Given the description of an element on the screen output the (x, y) to click on. 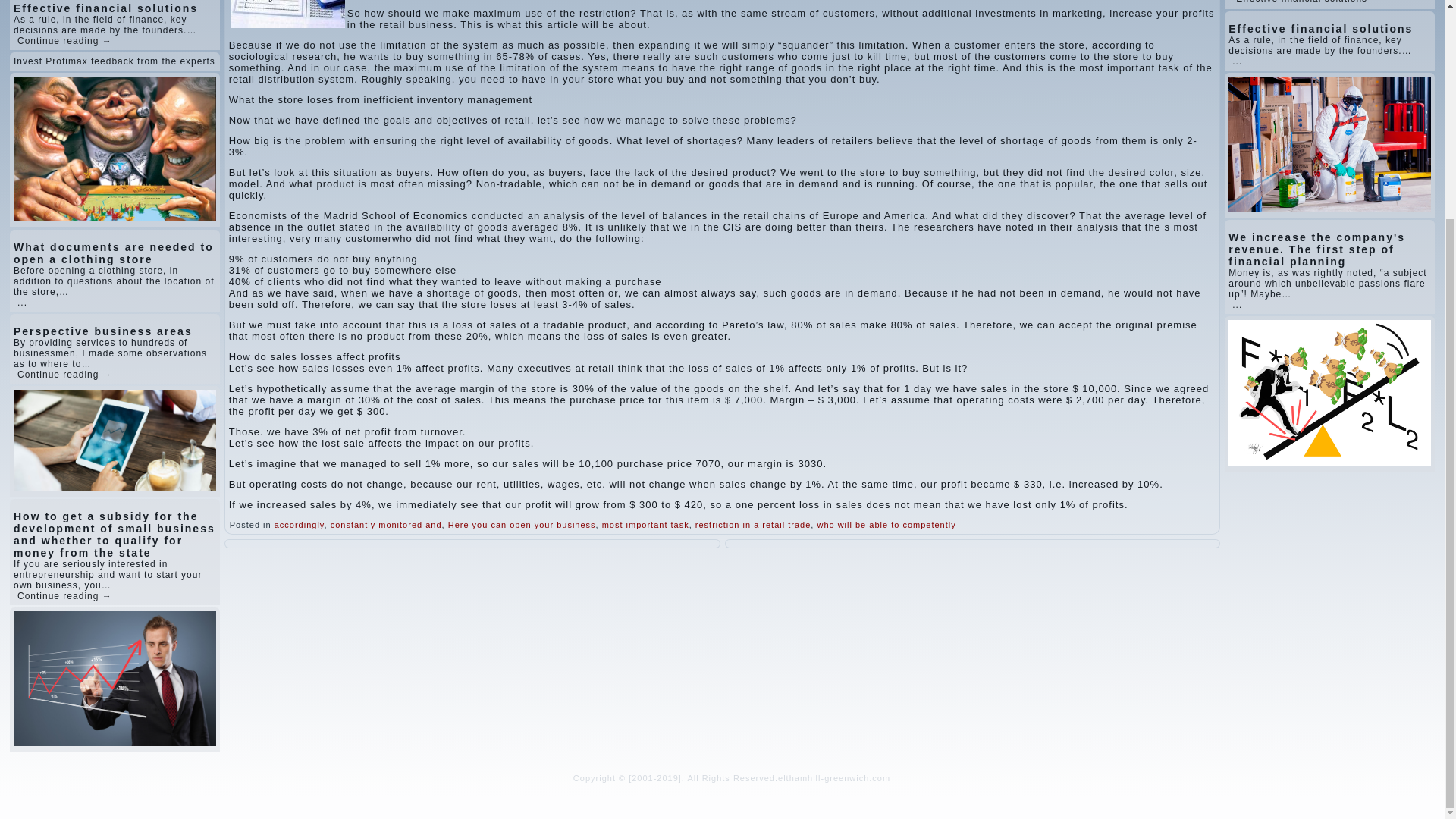
Profimax feedback (89, 61)
most important task (645, 524)
accordingly (299, 524)
restriction in a retail trade (752, 524)
Here you can open your business (521, 524)
constantly monitored and (386, 524)
who will be able to competently (885, 524)
... (1236, 60)
Effective financial solutions (1301, 2)
... (22, 302)
... (1236, 304)
